Given the description of an element on the screen output the (x, y) to click on. 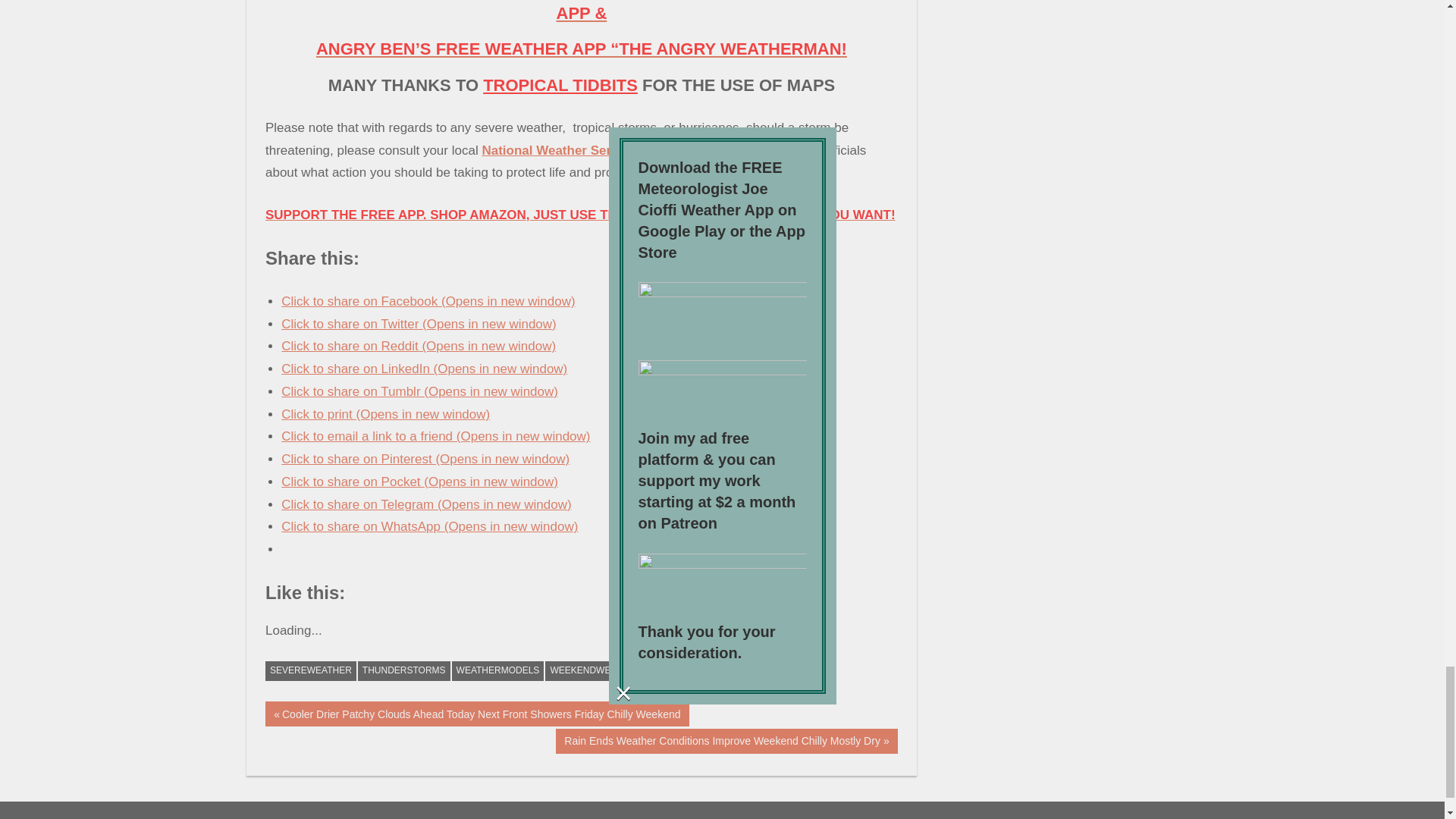
Click to email a link to a friend (435, 436)
Click to share on Pinterest (425, 459)
Click to share on WhatsApp (429, 526)
Click to share on LinkedIn (424, 368)
Click to share on Facebook (428, 301)
Click to share on Pocket (419, 481)
Click to share on Reddit (418, 345)
Click to share on Telegram (425, 504)
Click to share on Tumblr (419, 391)
Click to share on Twitter (418, 323)
